Given the description of an element on the screen output the (x, y) to click on. 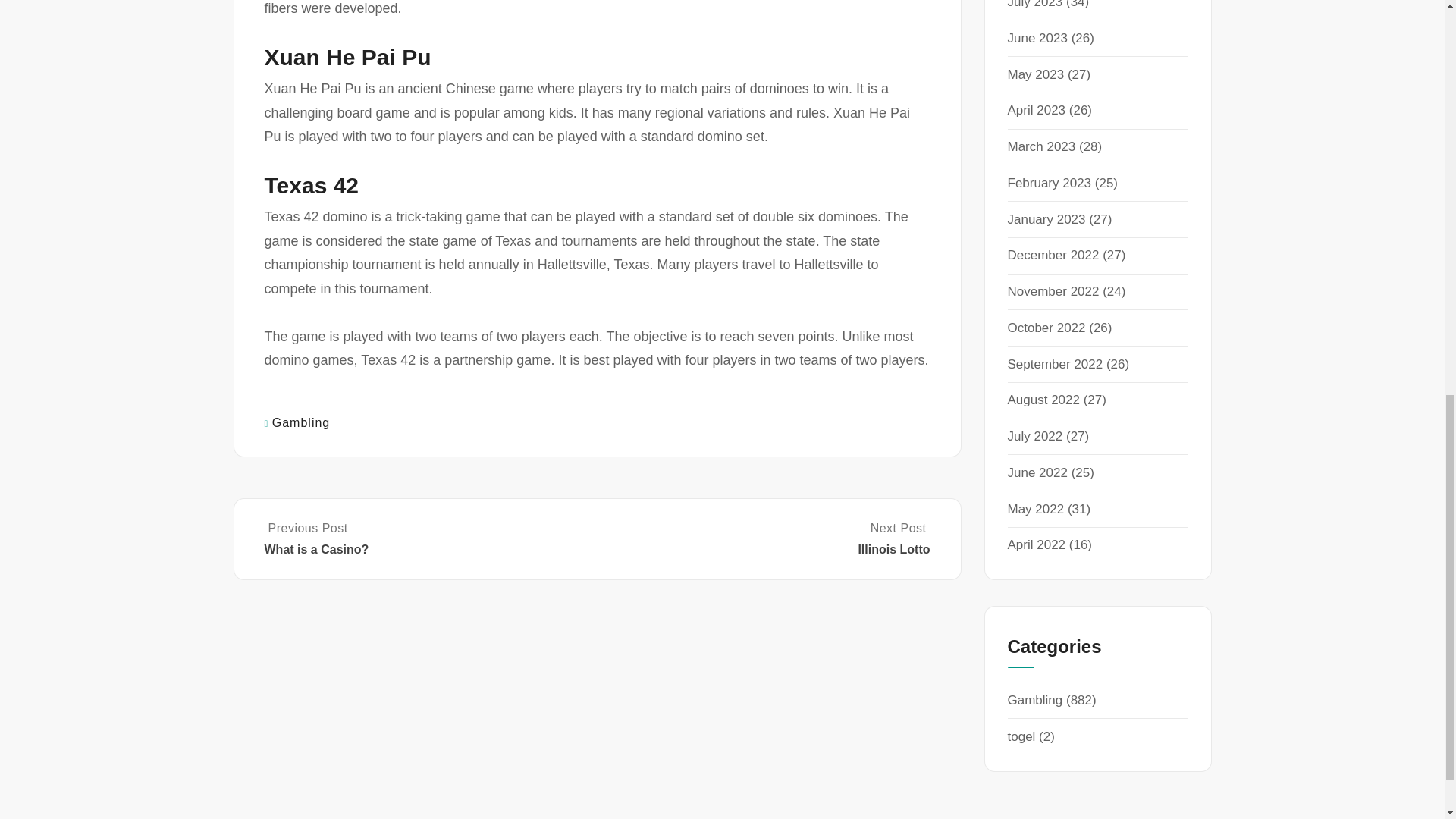
July 2023 (1034, 4)
October 2022 (1045, 327)
December 2022 (1053, 255)
April 2023 (764, 538)
May 2023 (1036, 110)
June 2023 (1035, 74)
November 2022 (1037, 38)
Gambling (1053, 291)
